Given the description of an element on the screen output the (x, y) to click on. 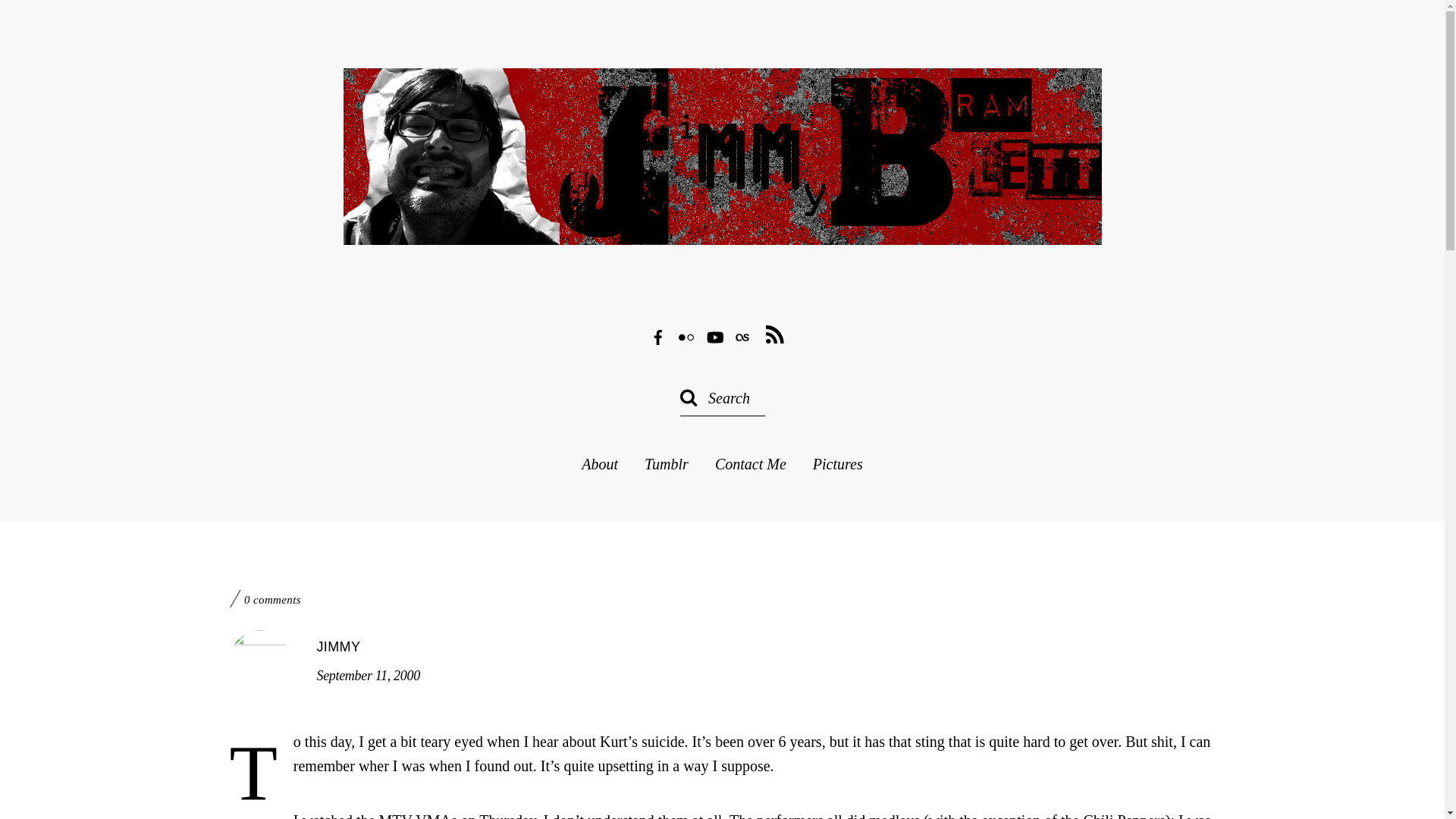
Contact Me (750, 464)
JimmyBramlett Dot Com (721, 223)
Tumblr (666, 464)
About (598, 464)
Pictures (837, 464)
JIMMY (339, 646)
0 comments (272, 599)
